Given the description of an element on the screen output the (x, y) to click on. 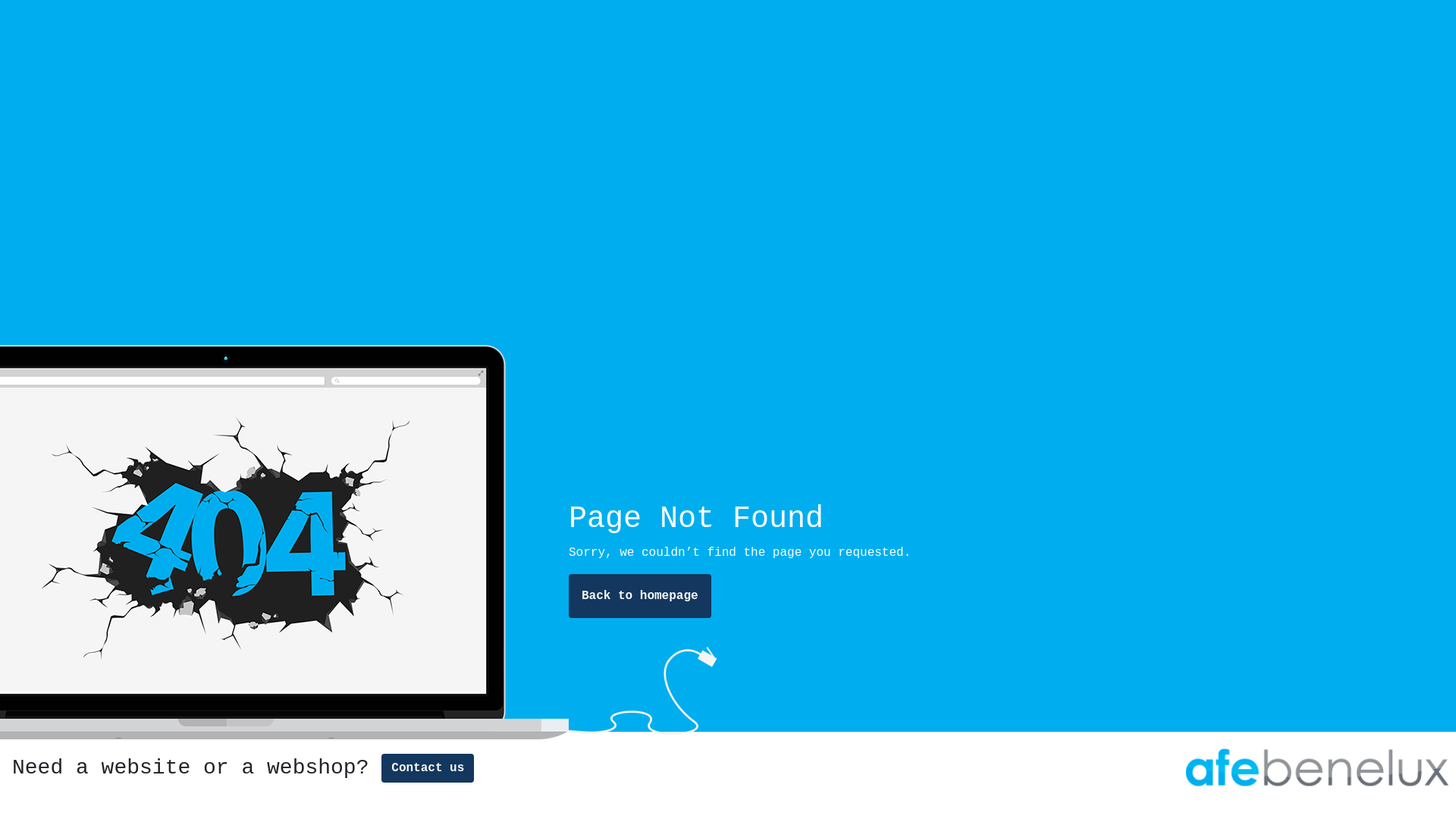
Back to homepage Element type: text (639, 596)
Contact us Element type: text (427, 767)
